Given the description of an element on the screen output the (x, y) to click on. 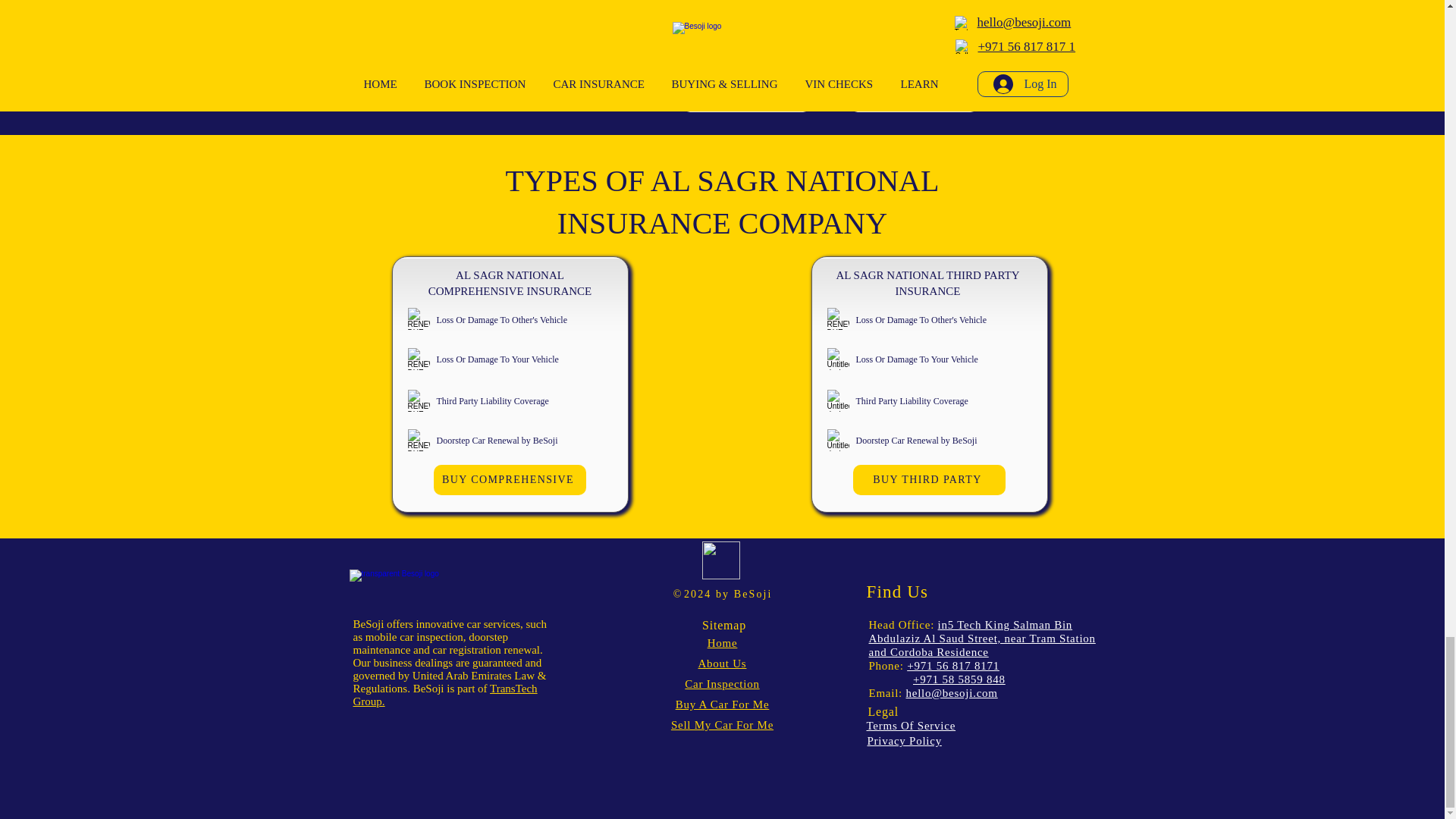
About Us (722, 663)
Claims Process (746, 94)
TransTech Group. (445, 694)
BUY COMPREHENSIVE (509, 480)
FAQs (912, 94)
Buy A Car For Me (722, 704)
BUY THIRD PARTY (927, 480)
Buy Smart (720, 560)
Insurance Types (746, 3)
What's Not Included (912, 42)
